Given the description of an element on the screen output the (x, y) to click on. 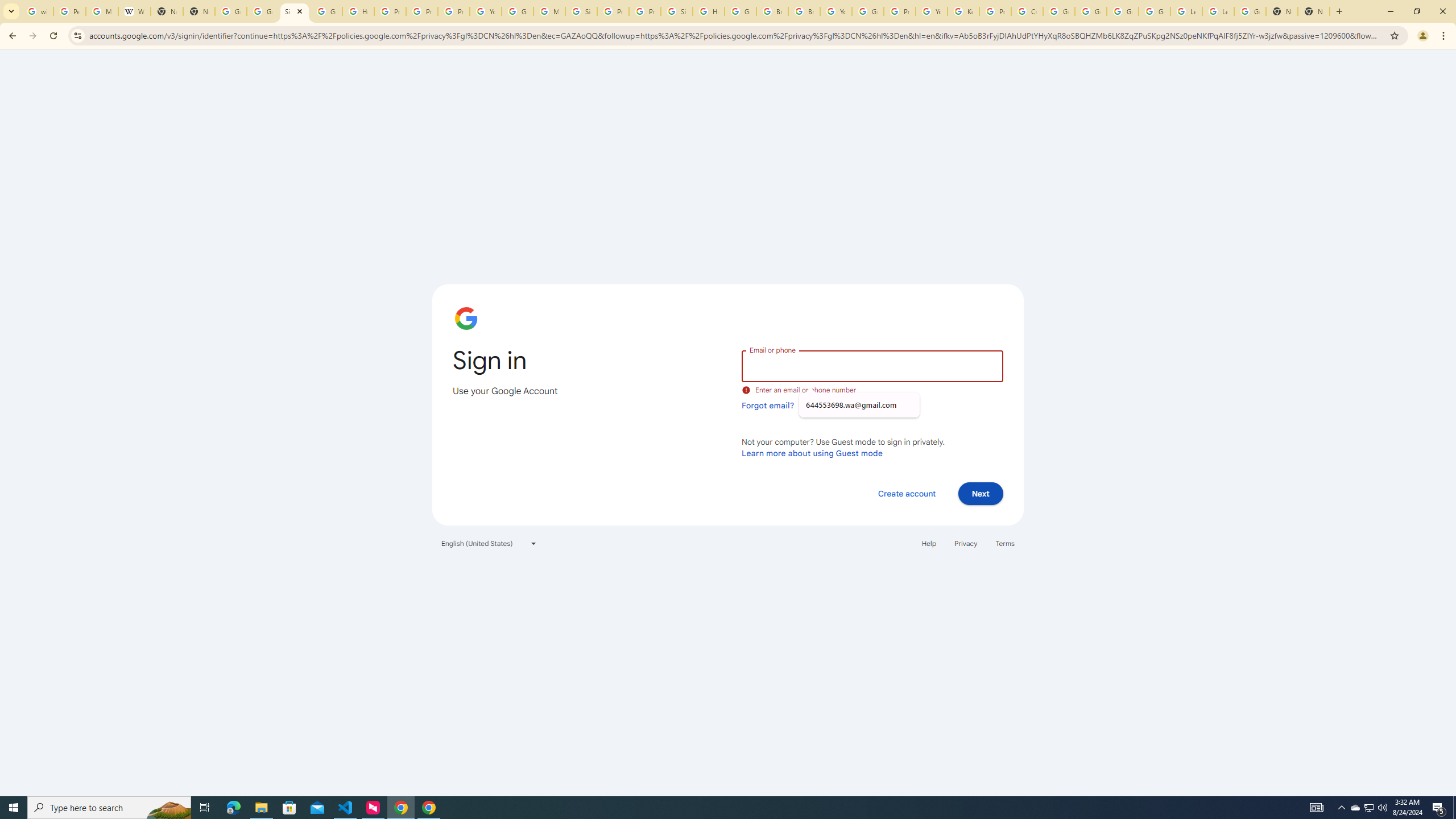
Sign in - Google Accounts (294, 11)
English (United States) (489, 542)
Google Account Help (868, 11)
Create your Google Account (1027, 11)
Google Account Help (517, 11)
YouTube (485, 11)
